Given the description of an element on the screen output the (x, y) to click on. 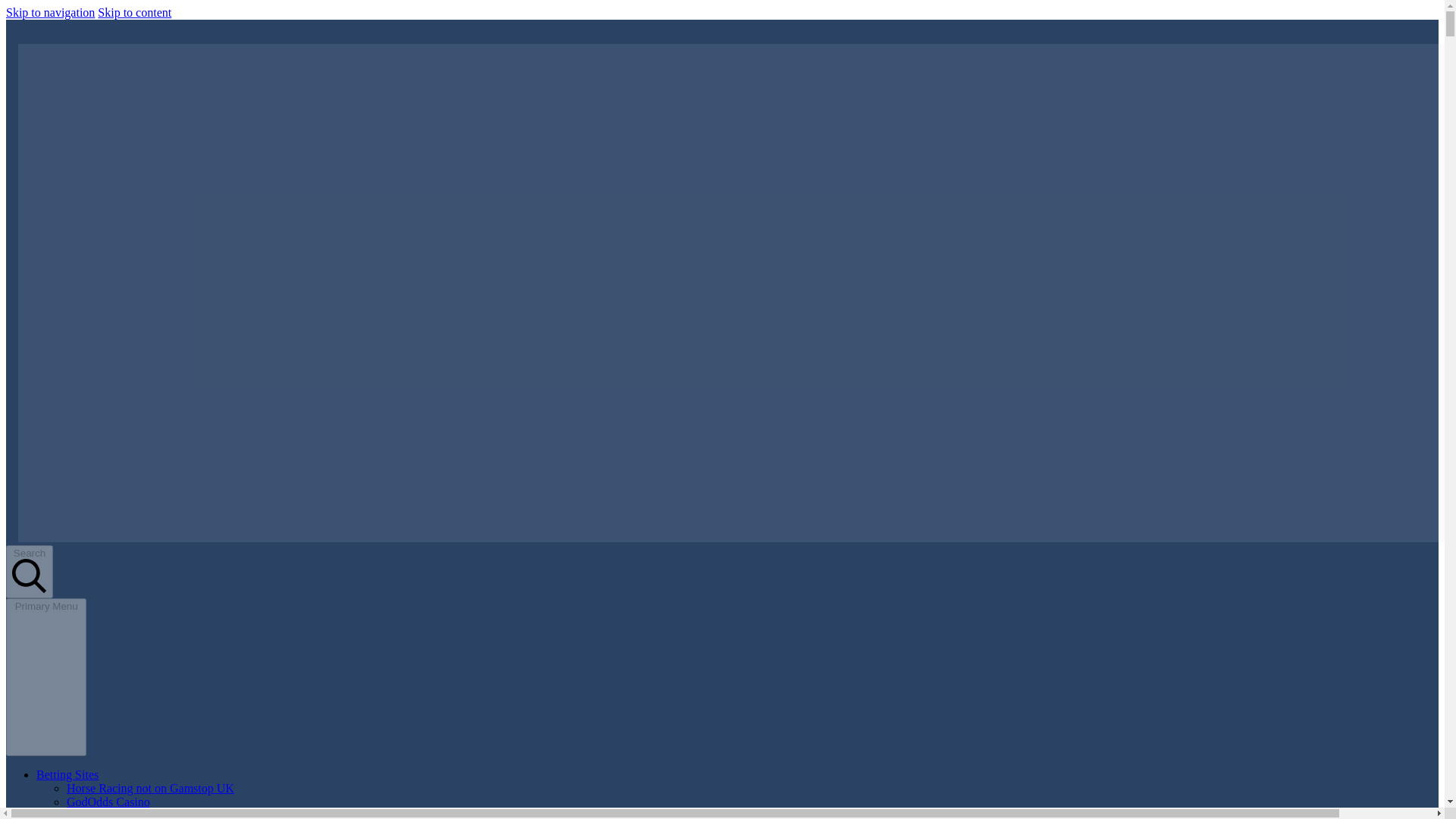
Horse Racing not on Gamstop UK (150, 788)
GodOdds Casino (107, 801)
Skip to content (134, 11)
Skip to navigation (49, 11)
King Hills Casino (110, 814)
Betting Sites (67, 774)
sitesnotongamstop (52, 563)
